Given the description of an element on the screen output the (x, y) to click on. 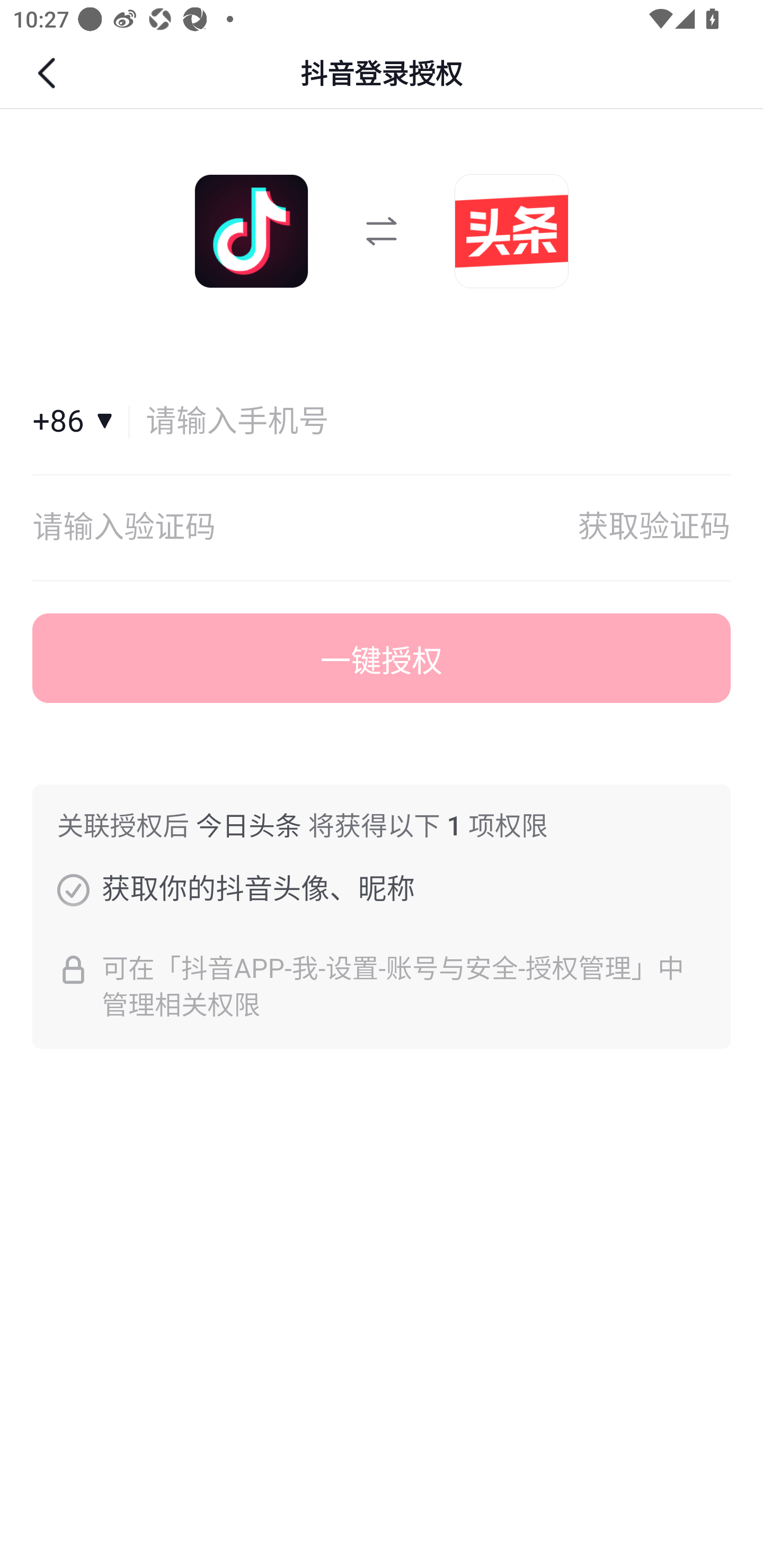
返回 (49, 72)
国家和地区+86 (81, 421)
获取验证码 (653, 527)
一键授权 (381, 658)
获取你的抖音头像、昵称 (72, 889)
